Given the description of an element on the screen output the (x, y) to click on. 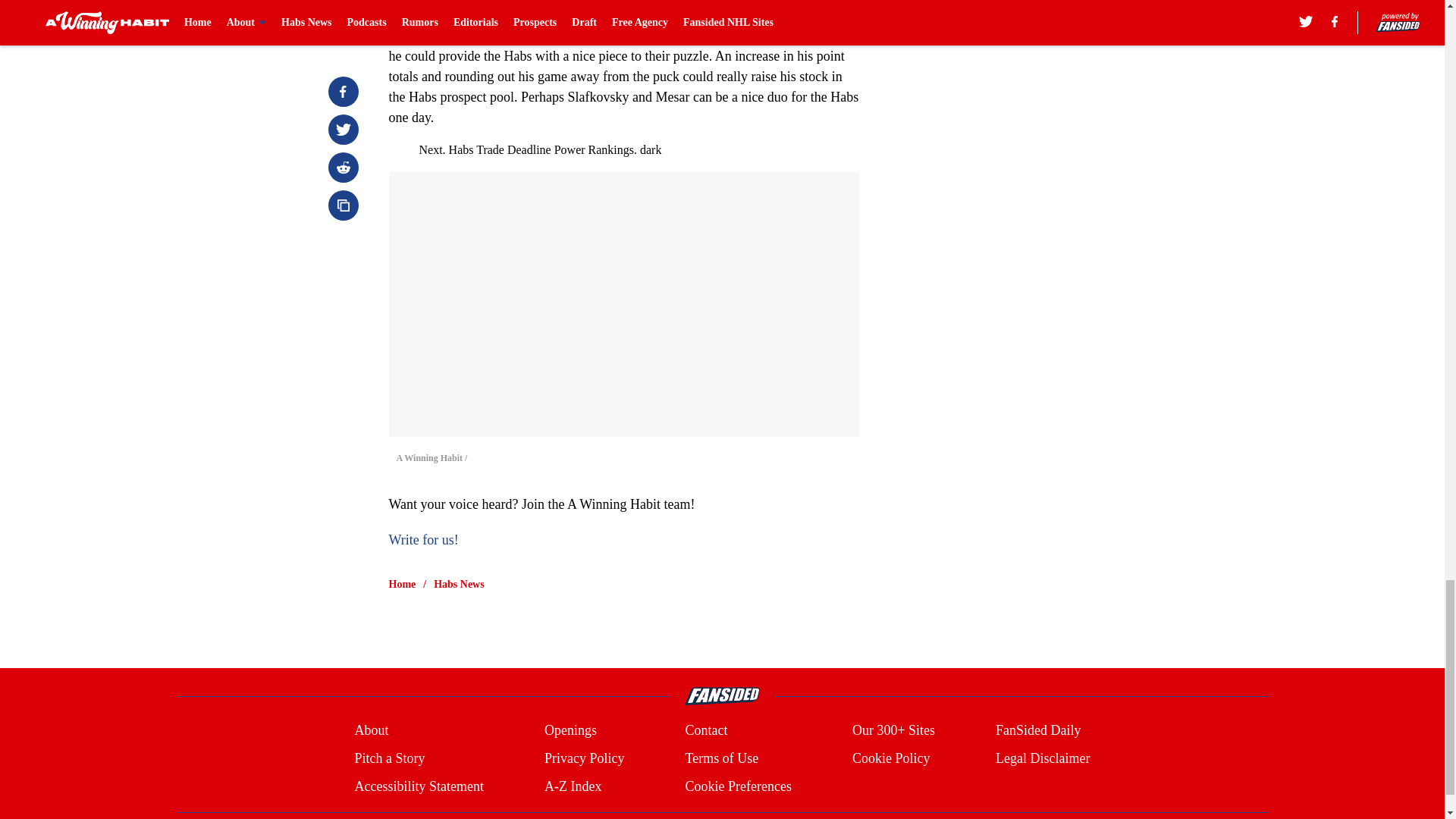
Privacy Policy (584, 758)
Write for us! (423, 539)
Terms of Use (721, 758)
FanSided Daily (1038, 730)
Habs News (458, 584)
Cookie Policy (890, 758)
Contact (705, 730)
Pitch a Story (389, 758)
About (370, 730)
Openings (570, 730)
